Given the description of an element on the screen output the (x, y) to click on. 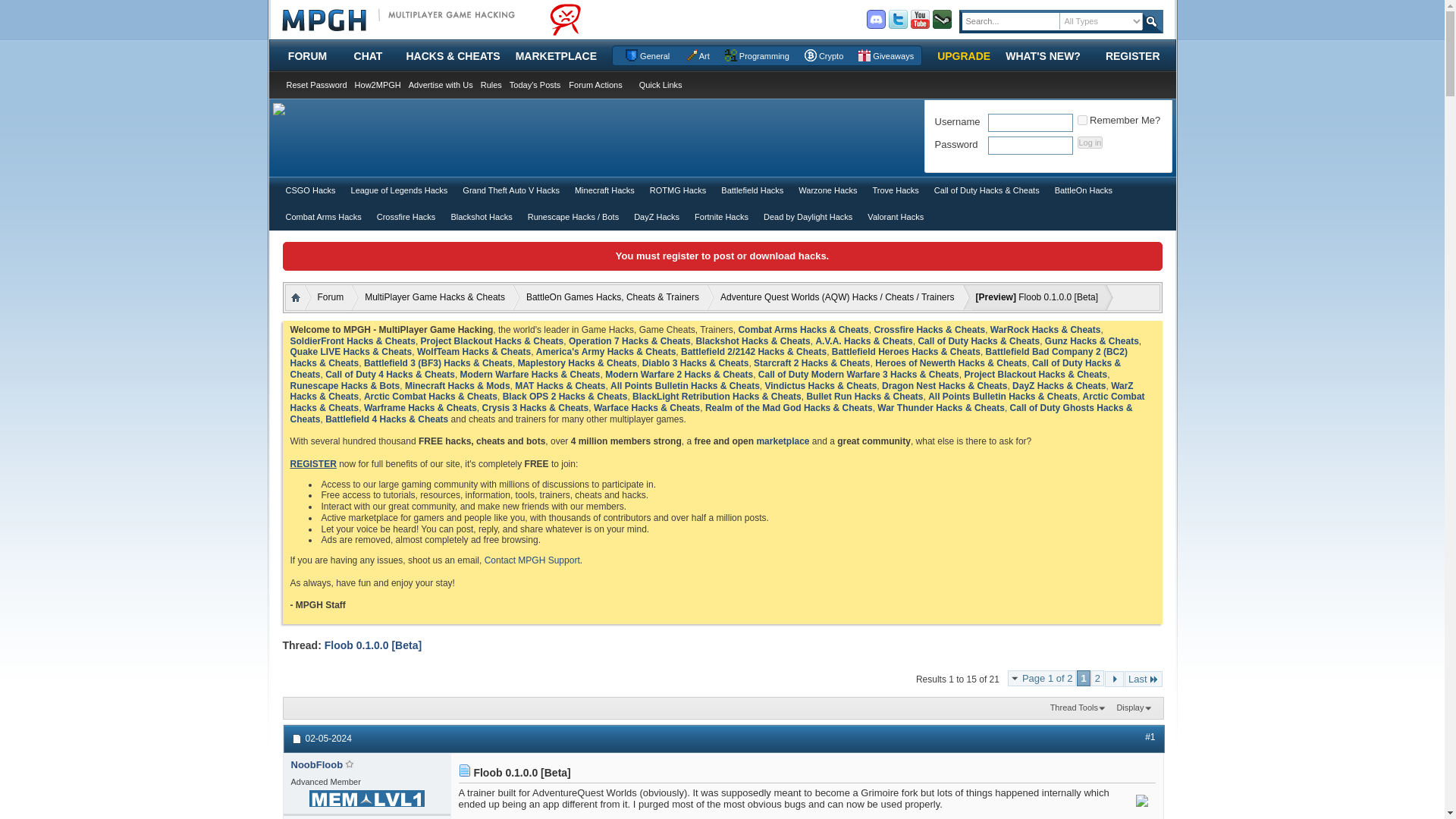
Grand Theft Auto V Hacks (511, 189)
Reload this Page (373, 645)
Warzone Hacks (827, 189)
Minecraft Hacks (604, 189)
Reset Password (316, 84)
MPGH (392, 19)
How2MPGH (377, 84)
Rules (491, 84)
Advertise with Us (440, 84)
CSGO Hacks (309, 189)
